Given the description of an element on the screen output the (x, y) to click on. 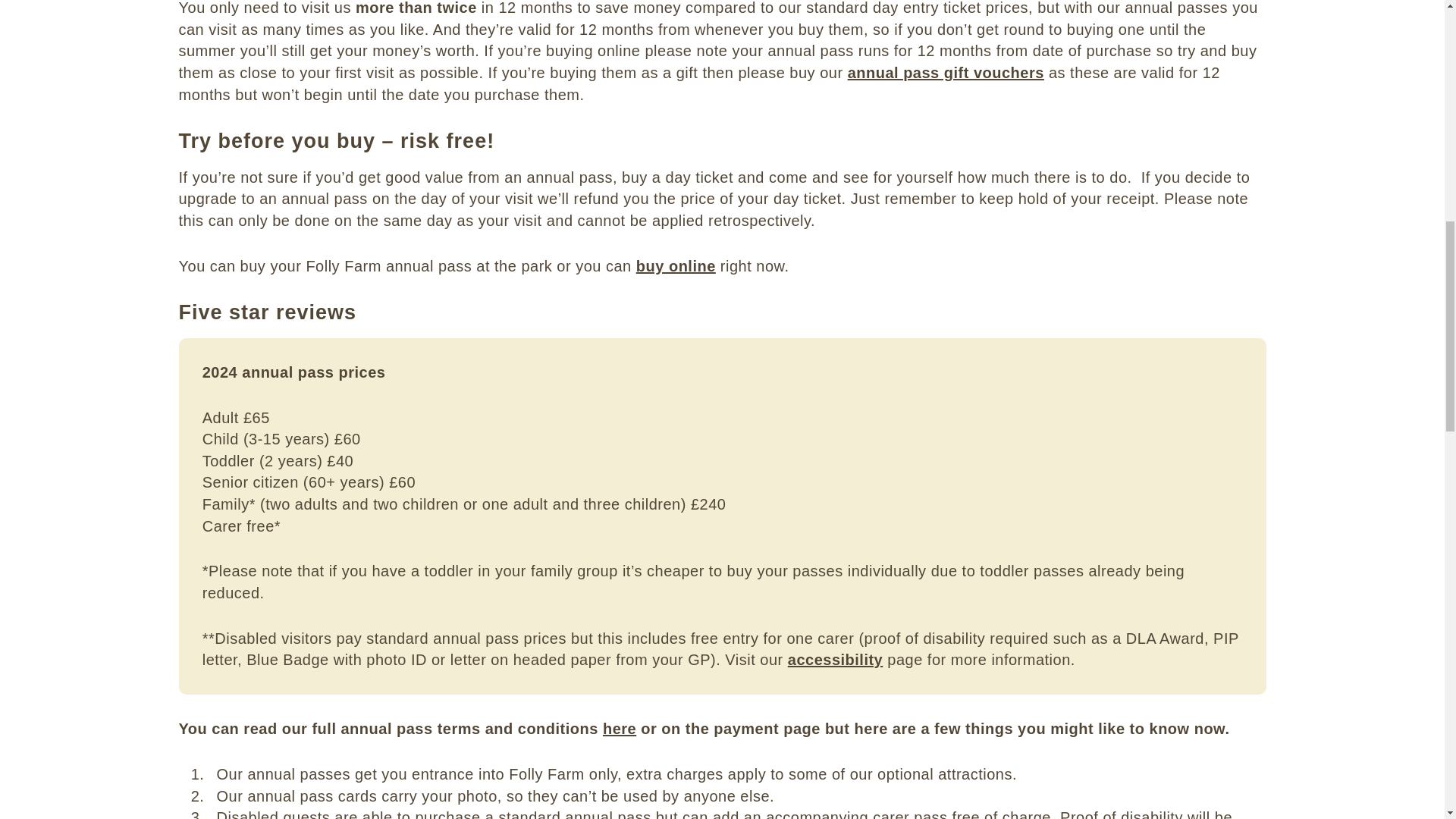
Buy tickets (676, 265)
